Given the description of an element on the screen output the (x, y) to click on. 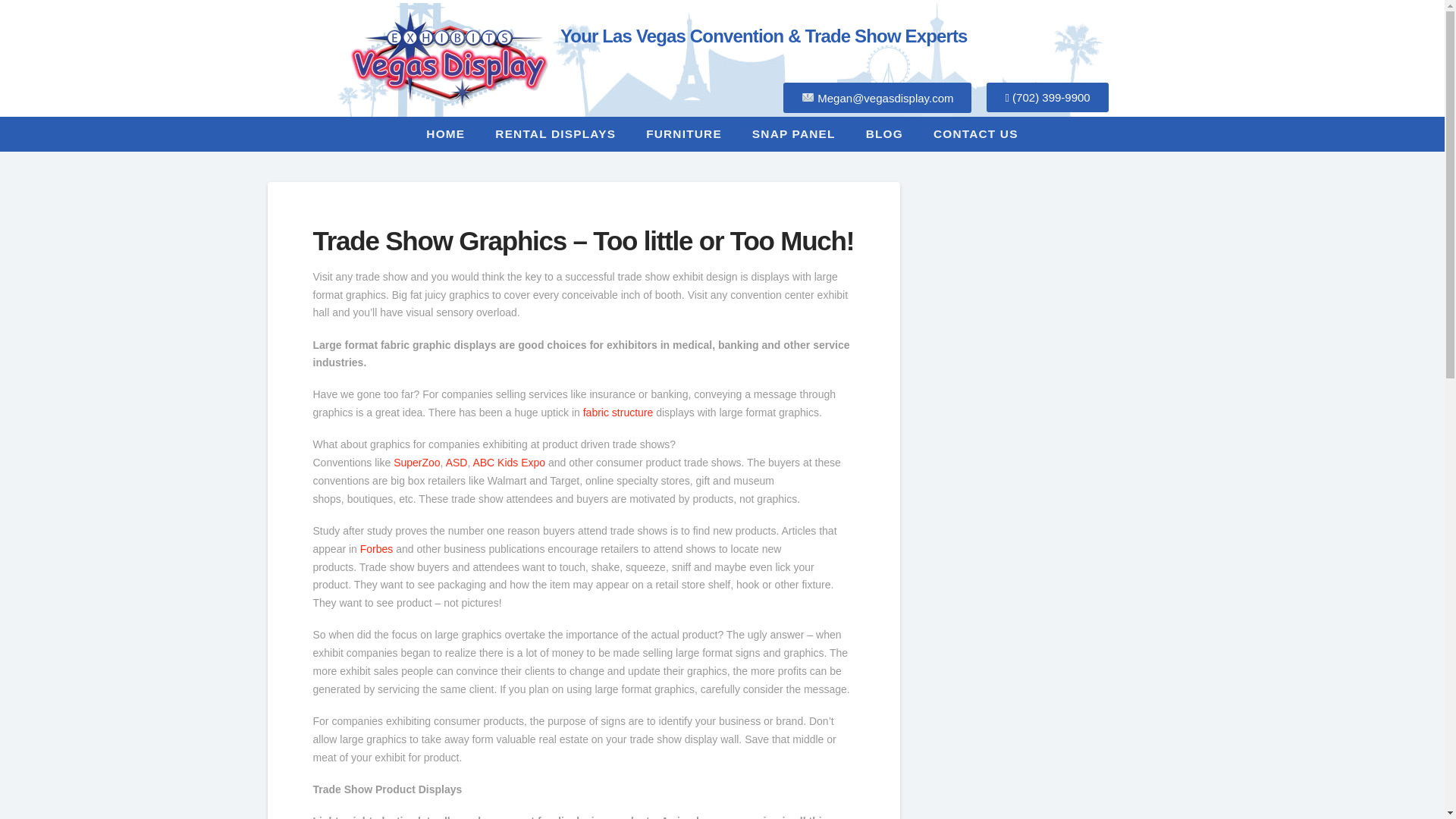
ASD (456, 462)
CONTACT US (975, 134)
fabric structure (618, 412)
BLOG (884, 134)
FURNITURE (683, 134)
ABC Kids Expo (507, 462)
RENTAL DISPLAYS (555, 134)
SuperZoo (416, 462)
Forbes (376, 548)
HOME (445, 134)
SNAP PANEL (793, 134)
